Given the description of an element on the screen output the (x, y) to click on. 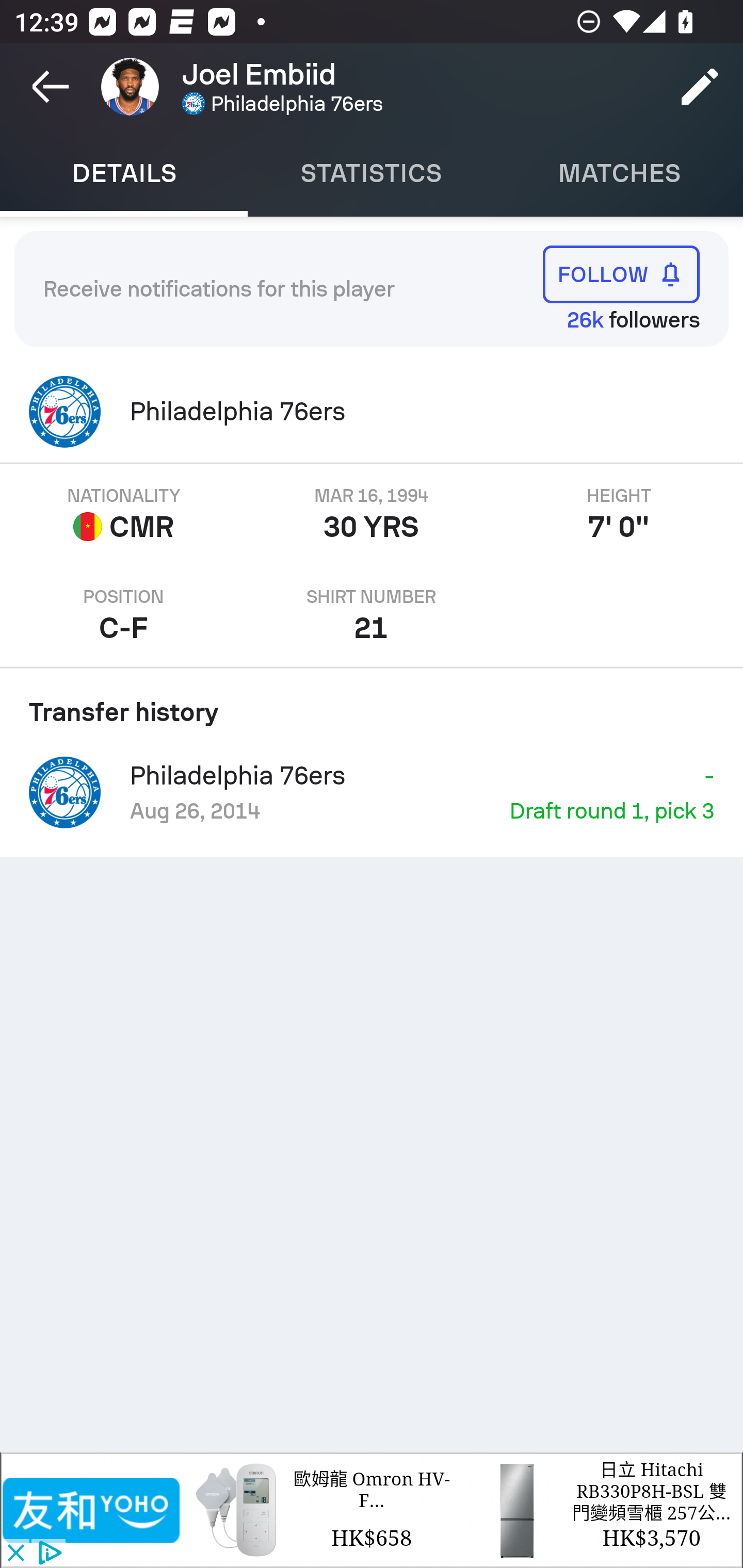
Navigate up (50, 86)
Edit (699, 86)
Statistics STATISTICS (371, 173)
Matches MATCHES (619, 173)
FOLLOW (621, 274)
Philadelphia 76ers (371, 411)
NATIONALITY CMR (123, 515)
POSITION C-F (123, 616)
Transfer history (371, 704)
   (91, 1509)
close_button (14, 1553)
privacy_small (47, 1553)
